Given the description of an element on the screen output the (x, y) to click on. 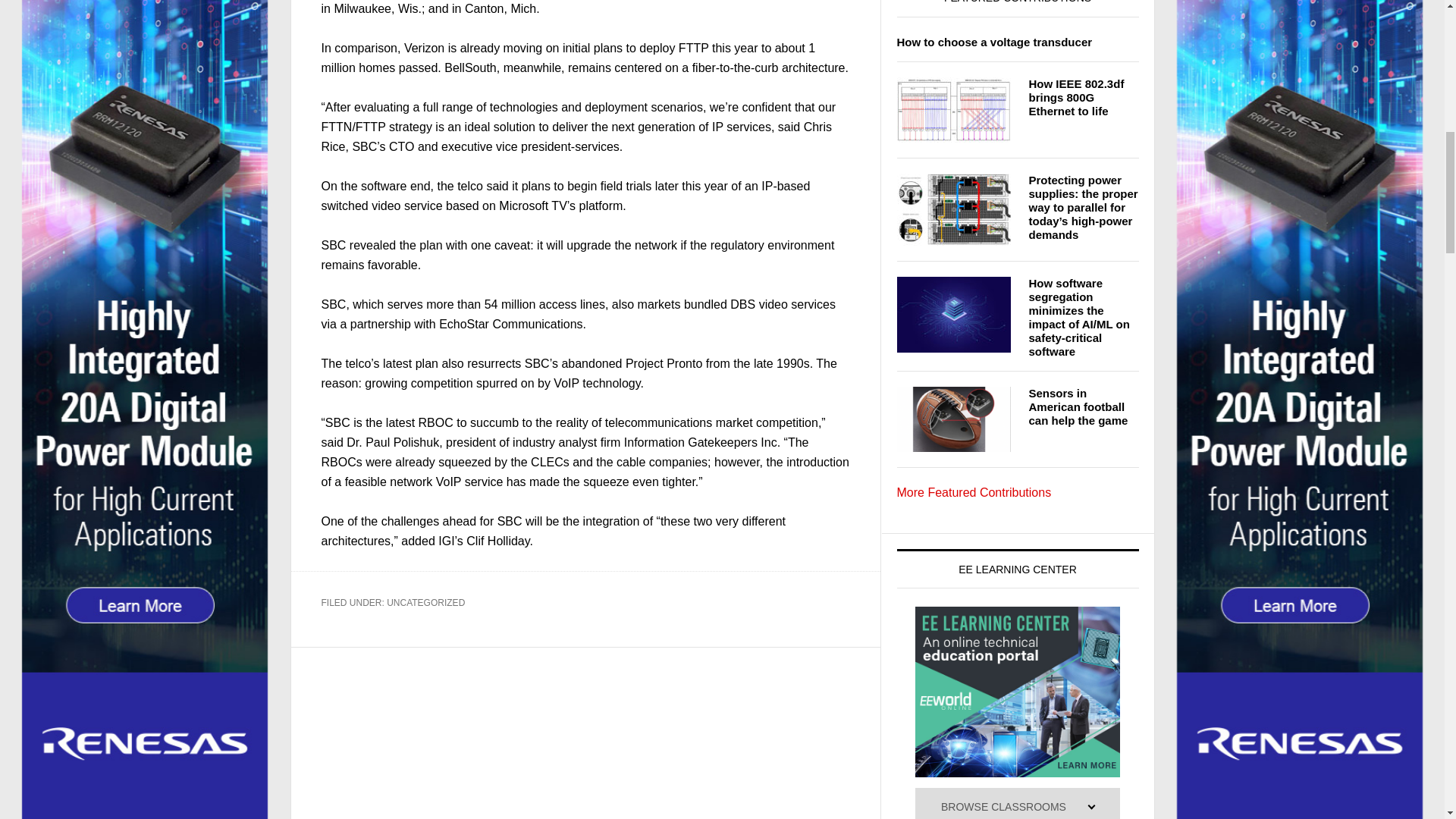
Featured Contributions (973, 492)
